Given the description of an element on the screen output the (x, y) to click on. 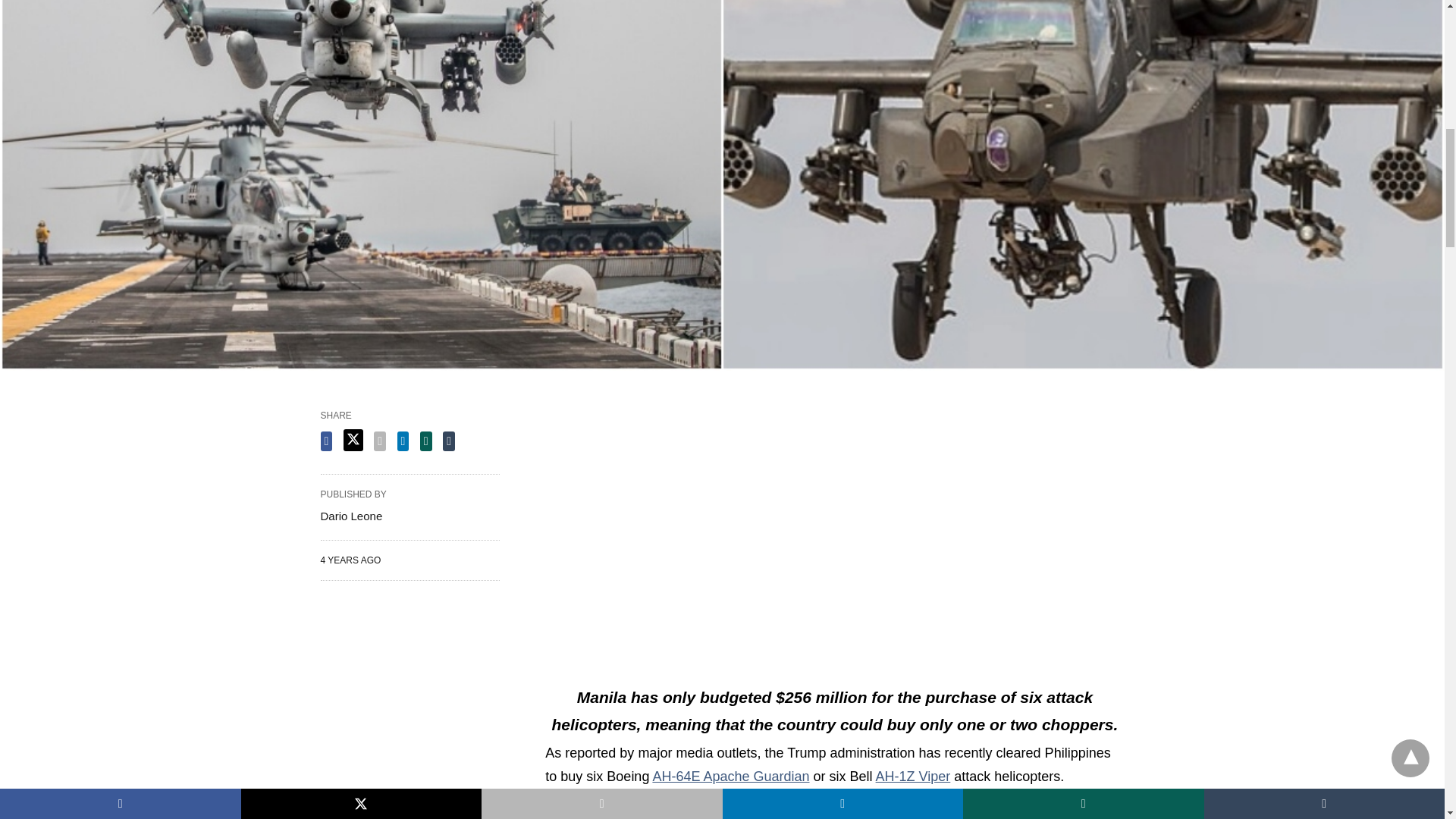
3rd party ad content (409, 711)
AH-1Z Viper (913, 776)
Iquirer.net (690, 816)
AH-64E Apache Guardian (730, 776)
